Given the description of an element on the screen output the (x, y) to click on. 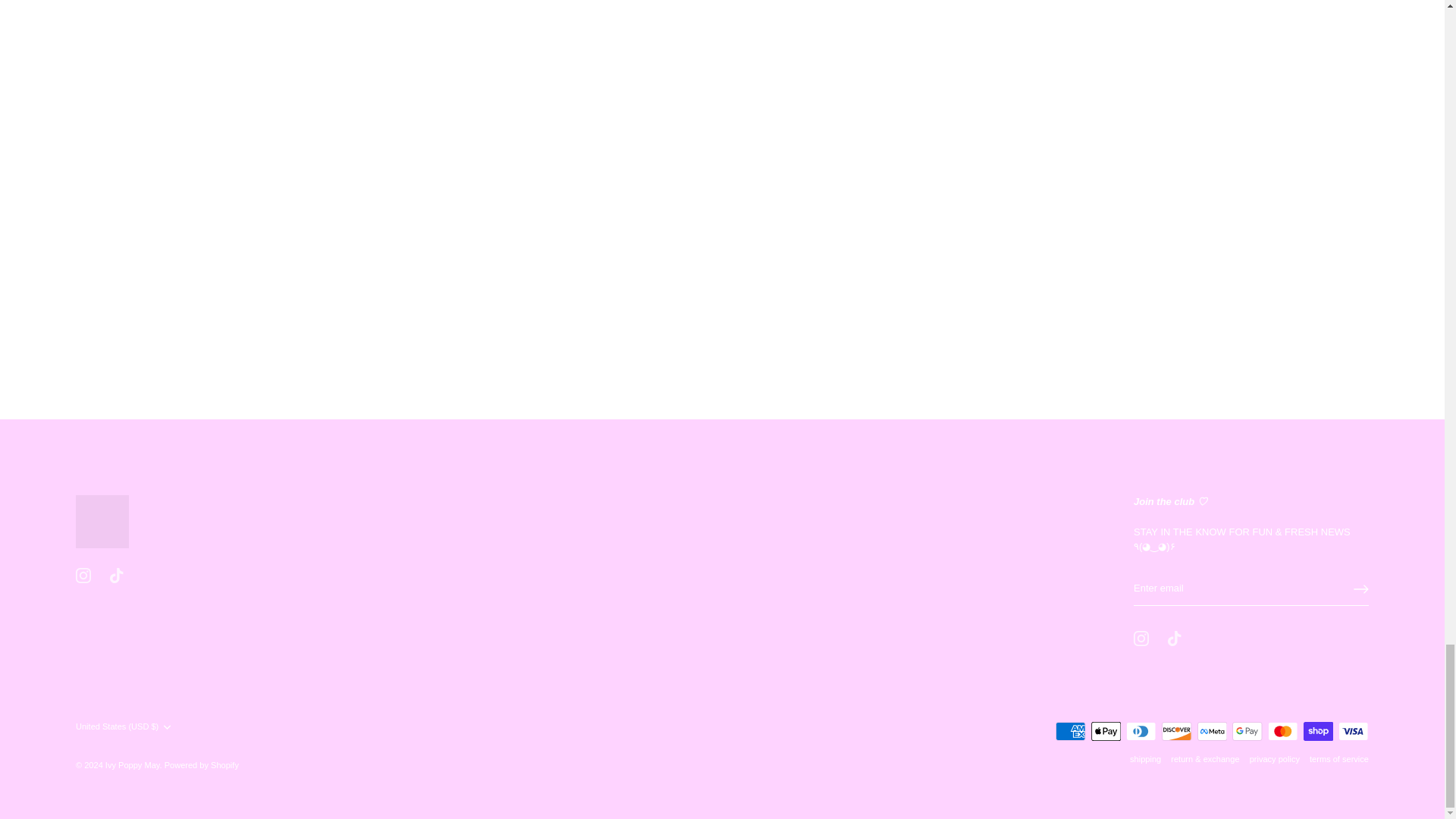
Mastercard (1282, 731)
Apple Pay (1105, 731)
Diners Club (1140, 731)
Discover (1176, 731)
Instagram (1141, 638)
Instagram (82, 575)
Visa (1353, 731)
Meta Pay (1211, 731)
Right arrow long (1361, 589)
American Express (1070, 731)
